Given the description of an element on the screen output the (x, y) to click on. 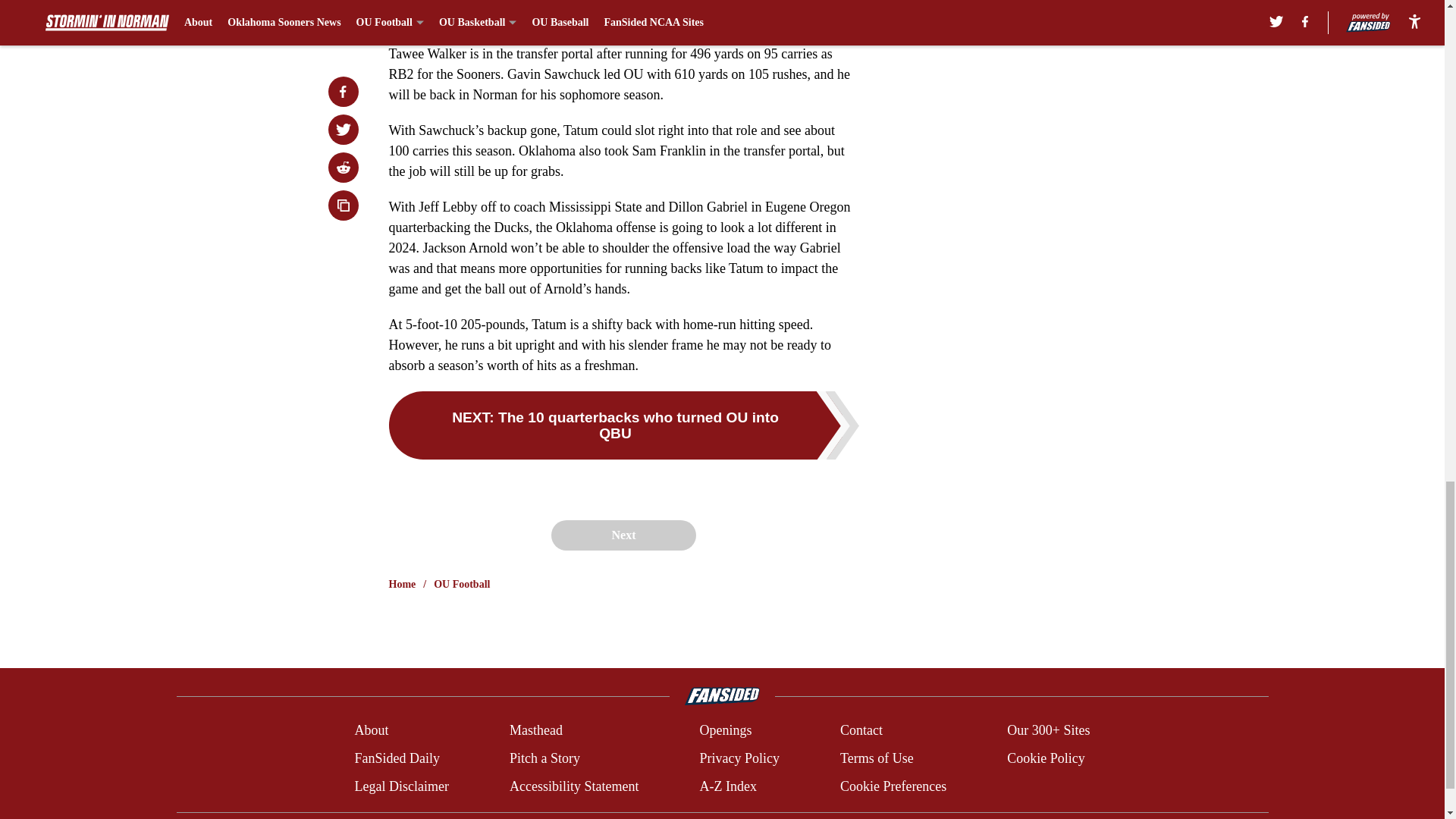
About (370, 730)
Masthead (535, 730)
NEXT: The 10 quarterbacks who turned OU into QBU (623, 425)
FanSided Daily (396, 758)
OU Football (461, 584)
Terms of Use (877, 758)
Next (622, 535)
Cookie Policy (1045, 758)
Openings (724, 730)
Privacy Policy (738, 758)
